Given the description of an element on the screen output the (x, y) to click on. 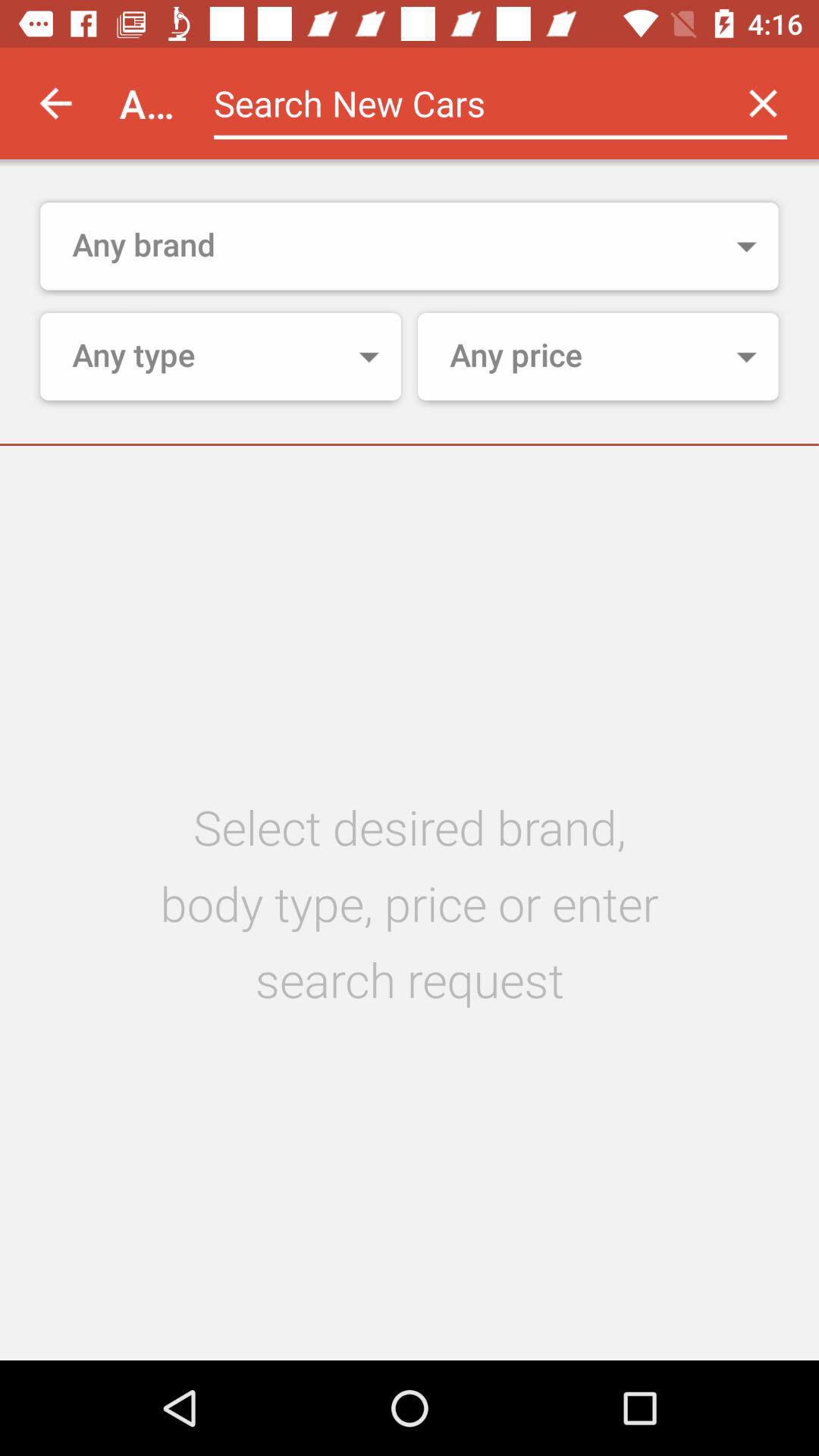
search (460, 103)
